Given the description of an element on the screen output the (x, y) to click on. 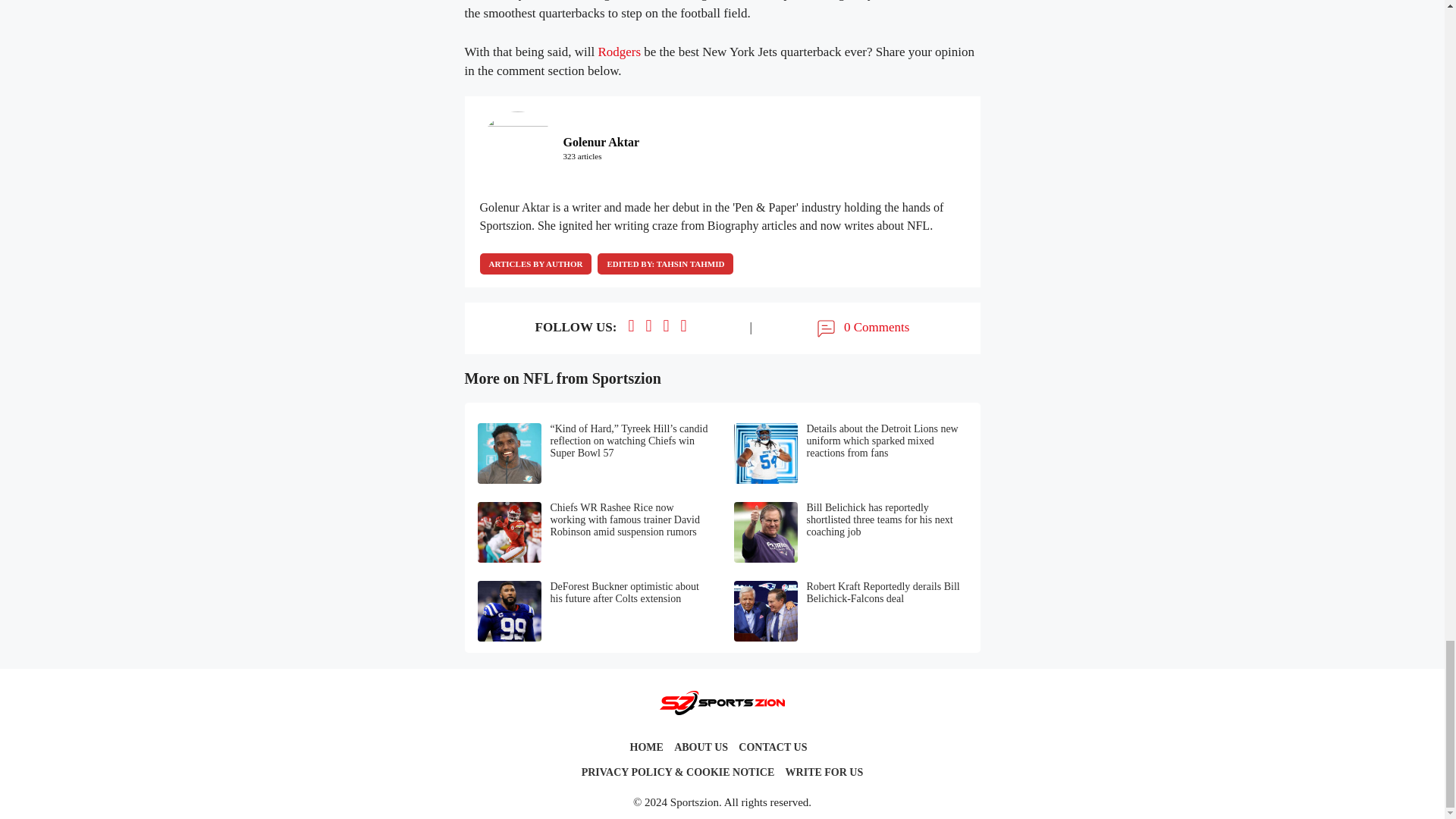
Rodgers (618, 51)
Robert Kraft Reportedly derails Bill Belichick-Falcons deal (850, 610)
0 Comments (861, 328)
ARTICLES BY AUTHOR (535, 263)
EDITED BY: TAHSIN TAHMID (664, 263)
